Given the description of an element on the screen output the (x, y) to click on. 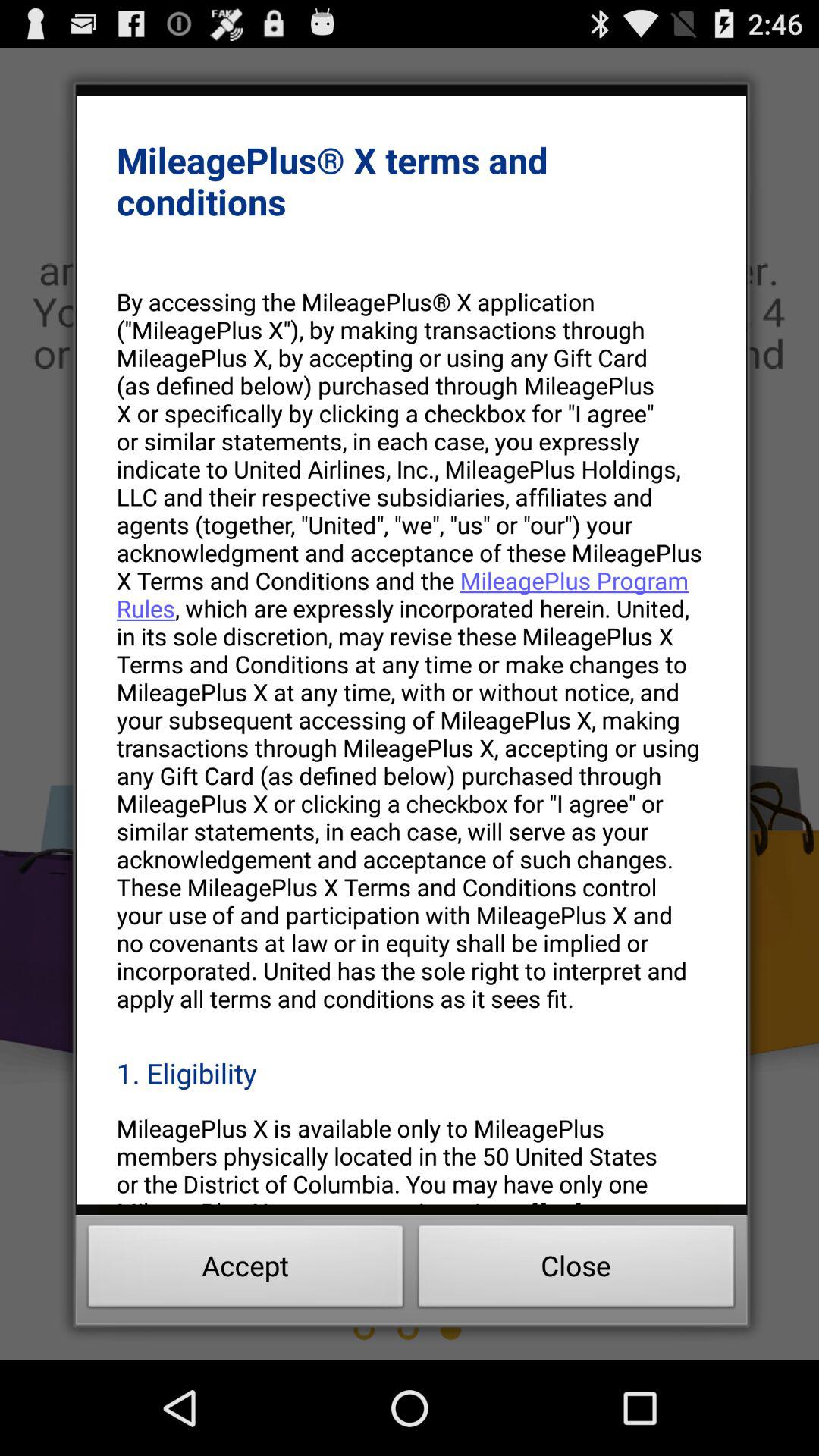
choose the item above the 1. eligibility app (411, 649)
